Given the description of an element on the screen output the (x, y) to click on. 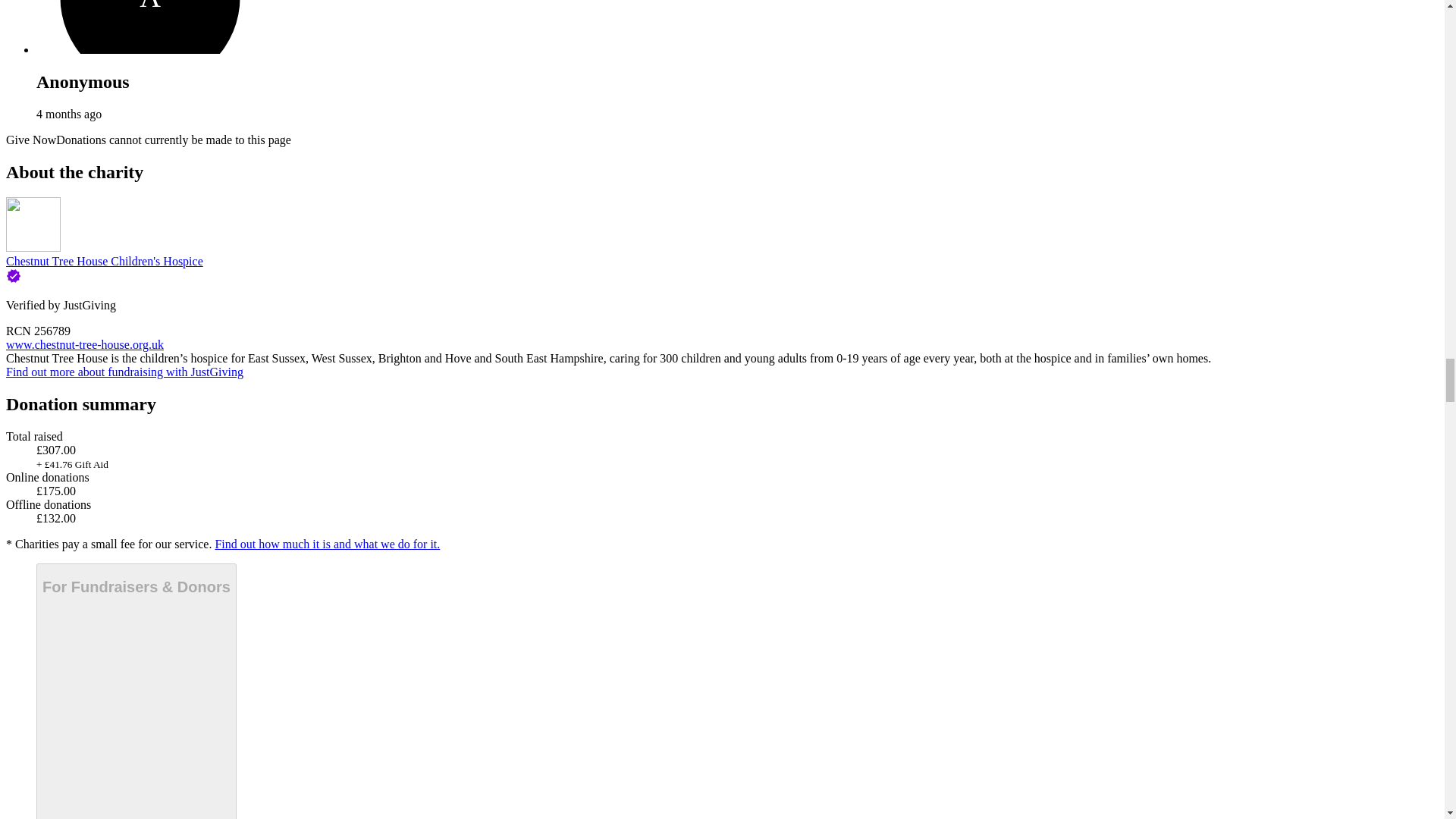
Find out how much it is and what we do for it. (326, 543)
www.chestnut-tree-house.org.uk (84, 344)
A (149, 27)
Find out more about fundraising with JustGiving (124, 371)
Chestnut Tree House Children's Hospice (104, 260)
